Given the description of an element on the screen output the (x, y) to click on. 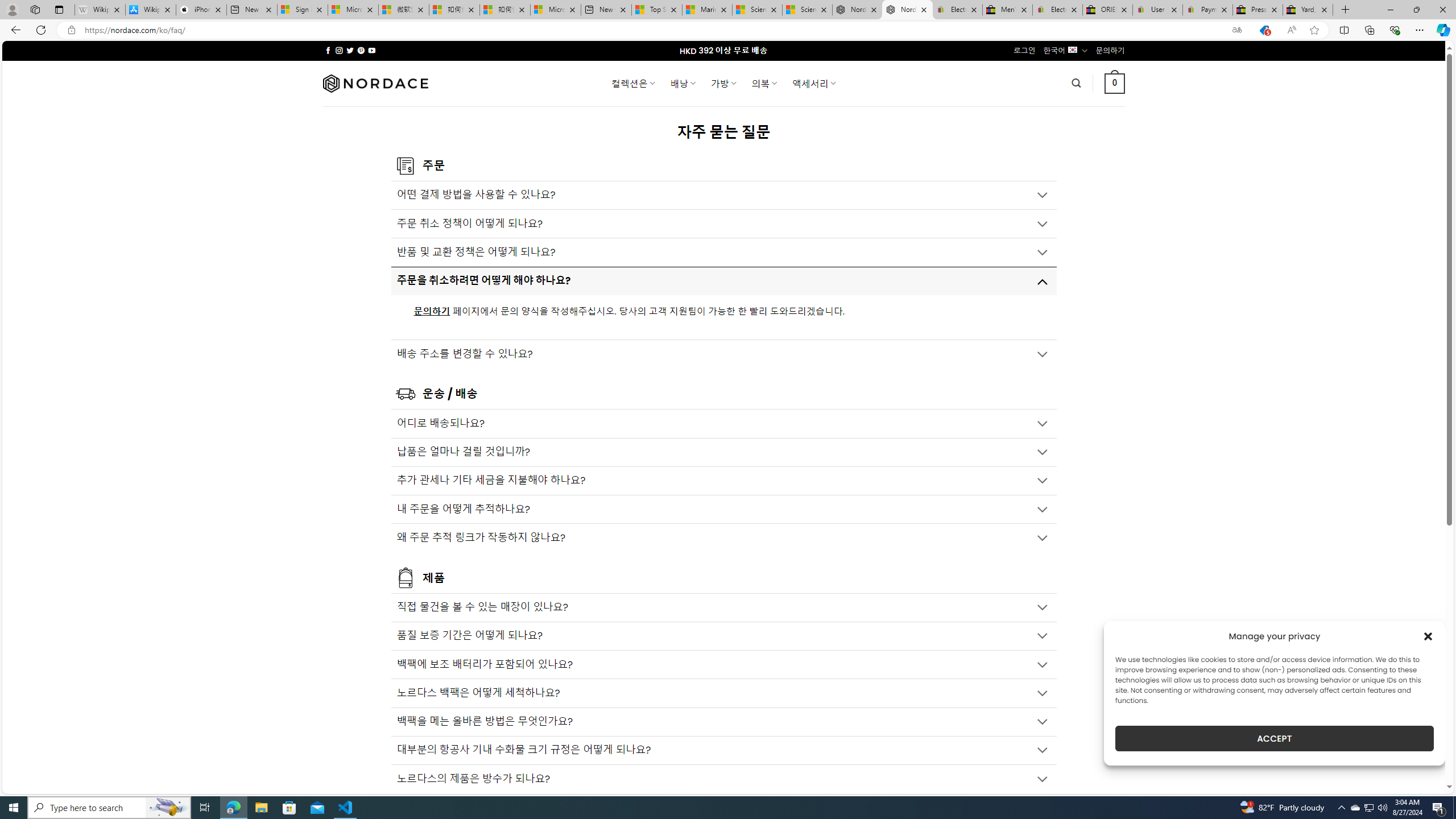
Follow on YouTube (371, 50)
Follow on Twitter (349, 50)
Class: cmplz-close (1428, 636)
